Given the description of an element on the screen output the (x, y) to click on. 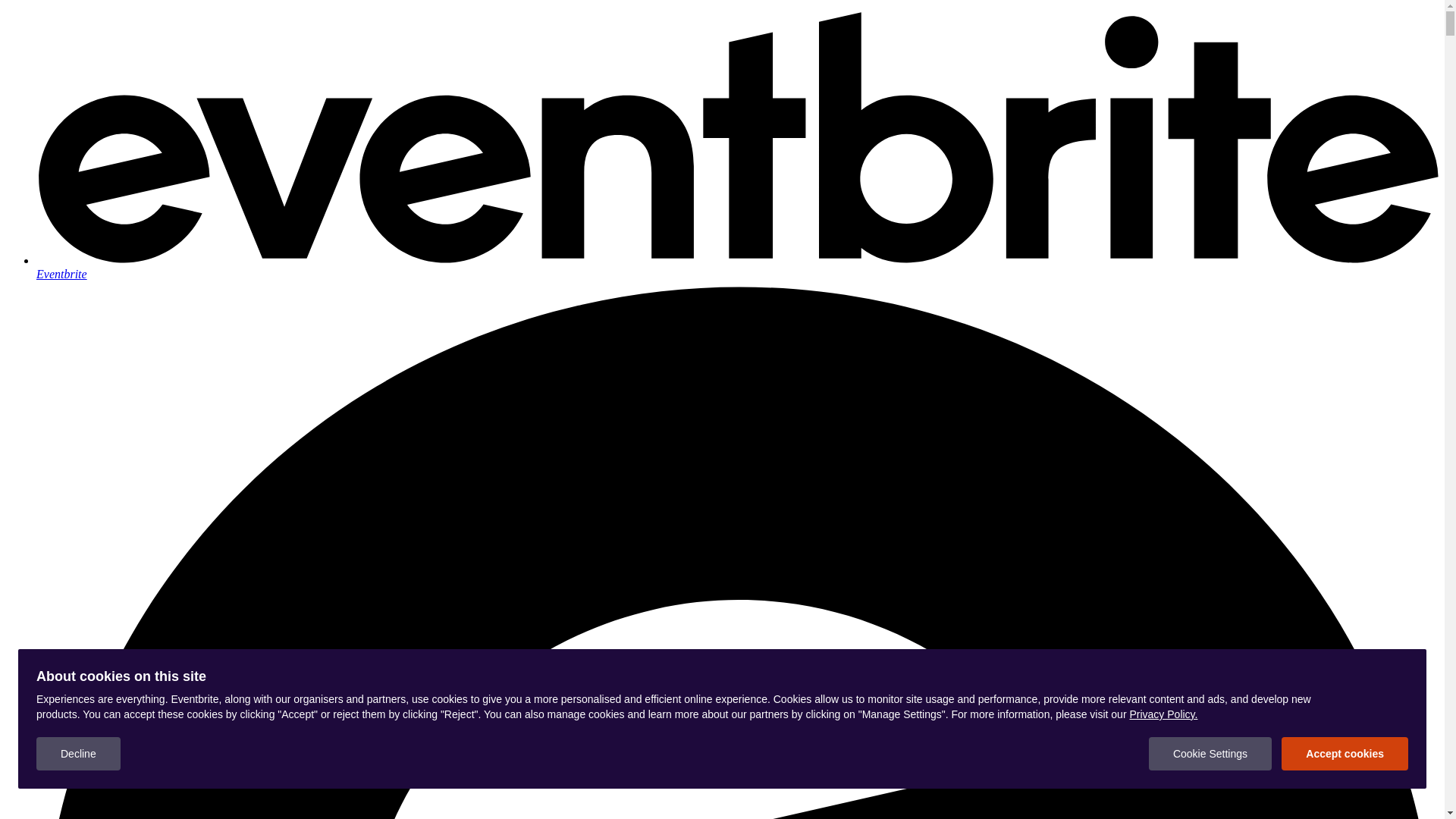
Accept cookies Element type: text (1344, 753)
Decline Element type: text (78, 753)
Privacy Policy. Element type: text (1163, 714)
Cookie Settings Element type: text (1209, 753)
Eventbrite Element type: text (737, 267)
